Given the description of an element on the screen output the (x, y) to click on. 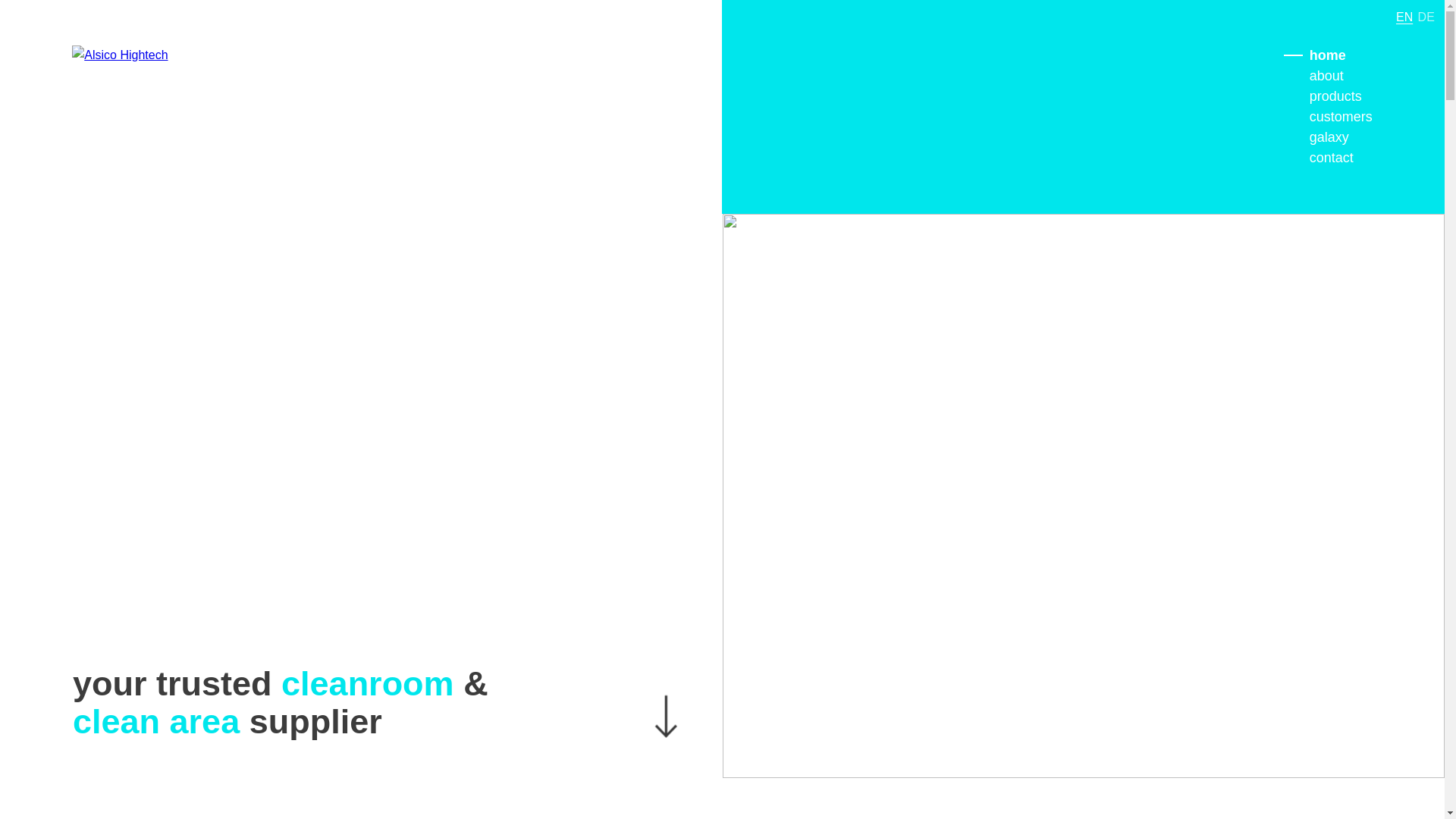
galaxy Element type: text (1329, 137)
contact Element type: text (1331, 157)
customers Element type: text (1340, 116)
home Element type: text (1327, 55)
about Element type: text (1326, 75)
